Given the description of an element on the screen output the (x, y) to click on. 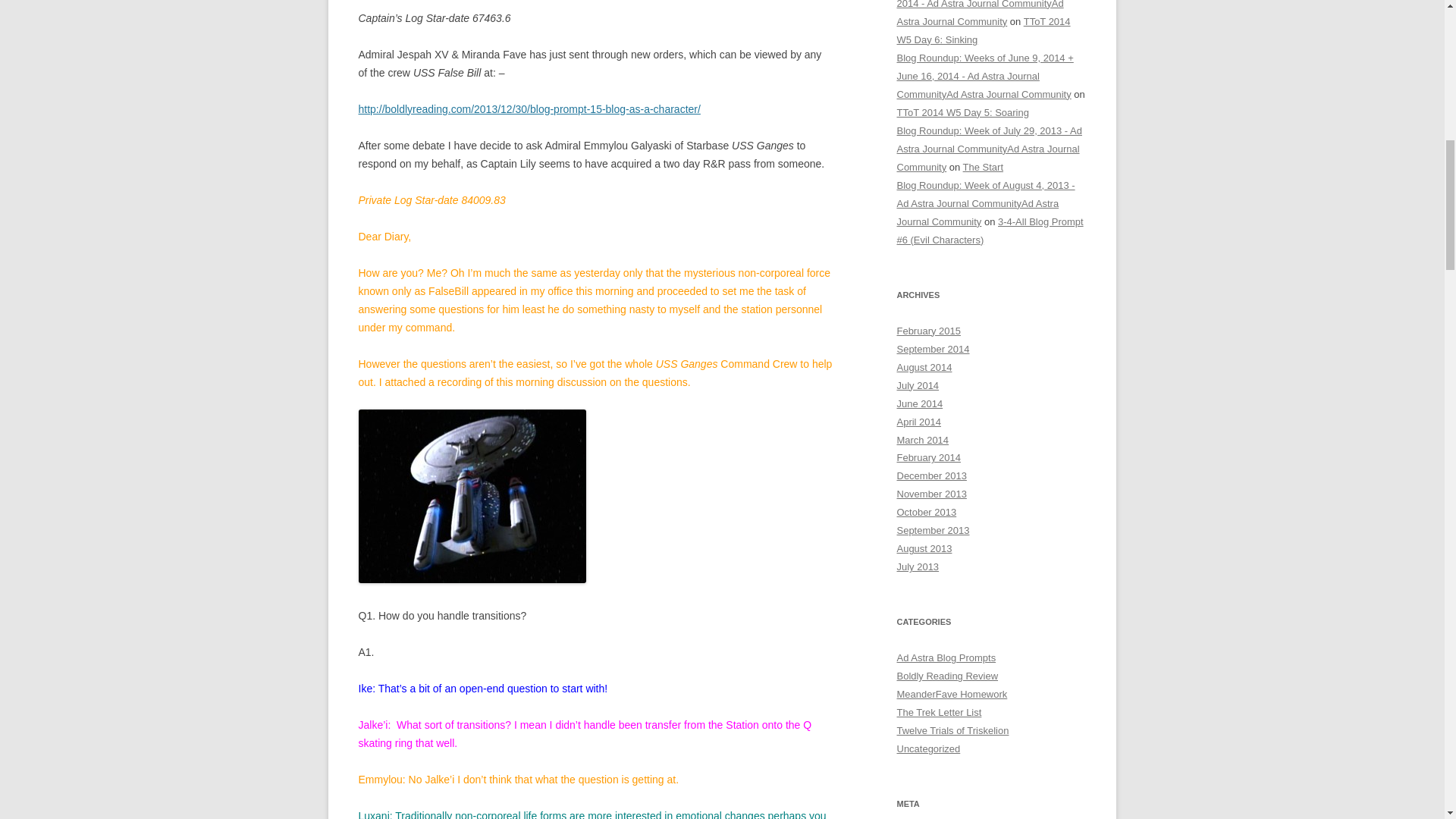
February 2015 (927, 330)
TToT 2014 W5 Day 5: Soaring (961, 112)
TToT 2014 W5 Day 6: Sinking (983, 30)
August 2014 (924, 367)
September 2014 (932, 348)
July 2014 (917, 385)
The Start (982, 166)
April 2014 (918, 421)
